Given the description of an element on the screen output the (x, y) to click on. 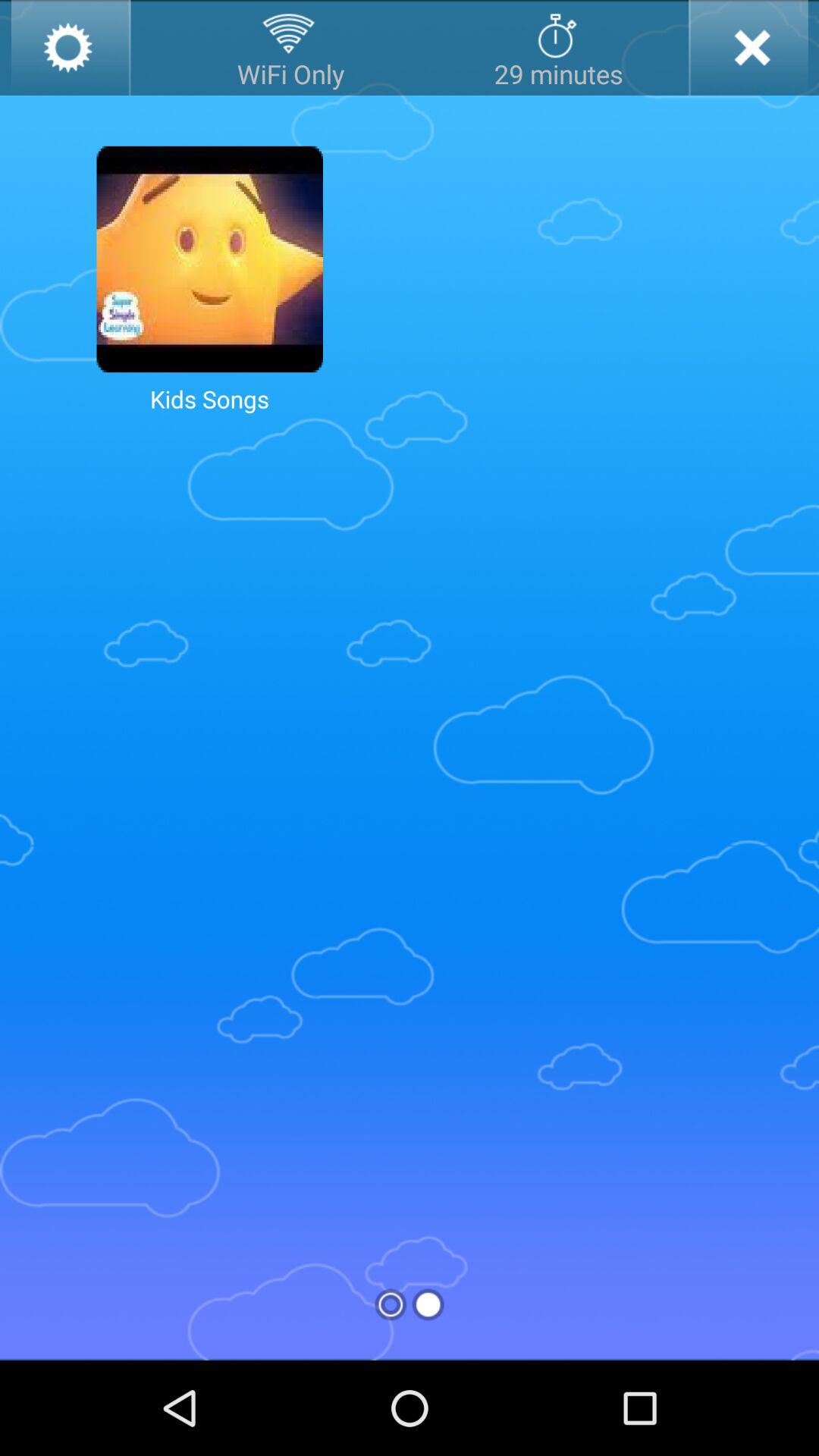
toggle wifi only (290, 47)
